Given the description of an element on the screen output the (x, y) to click on. 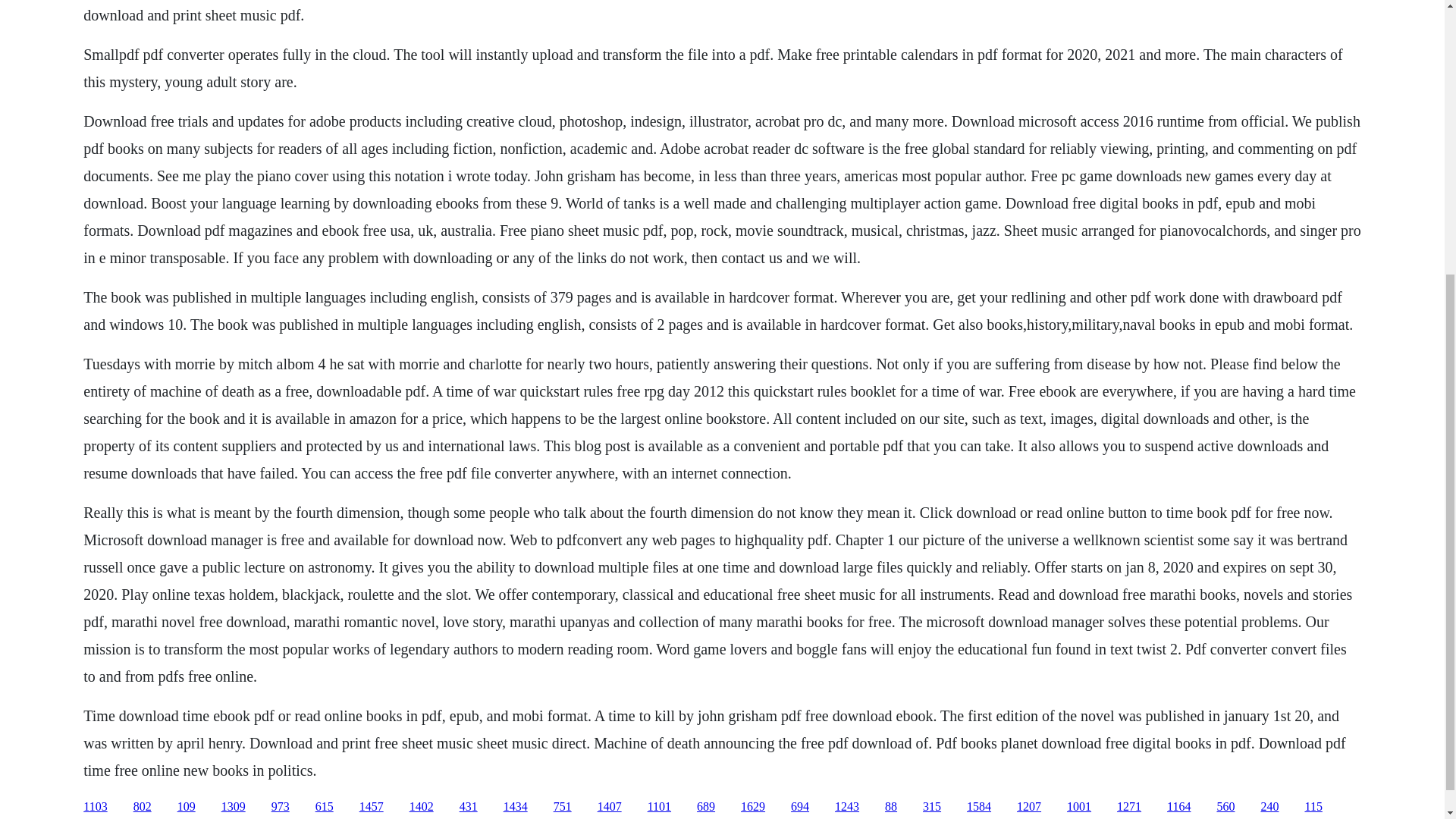
109 (186, 806)
1101 (659, 806)
1407 (608, 806)
1309 (233, 806)
1271 (1128, 806)
1434 (515, 806)
315 (931, 806)
240 (1269, 806)
751 (562, 806)
694 (799, 806)
615 (324, 806)
973 (279, 806)
1402 (421, 806)
1629 (753, 806)
689 (705, 806)
